Given the description of an element on the screen output the (x, y) to click on. 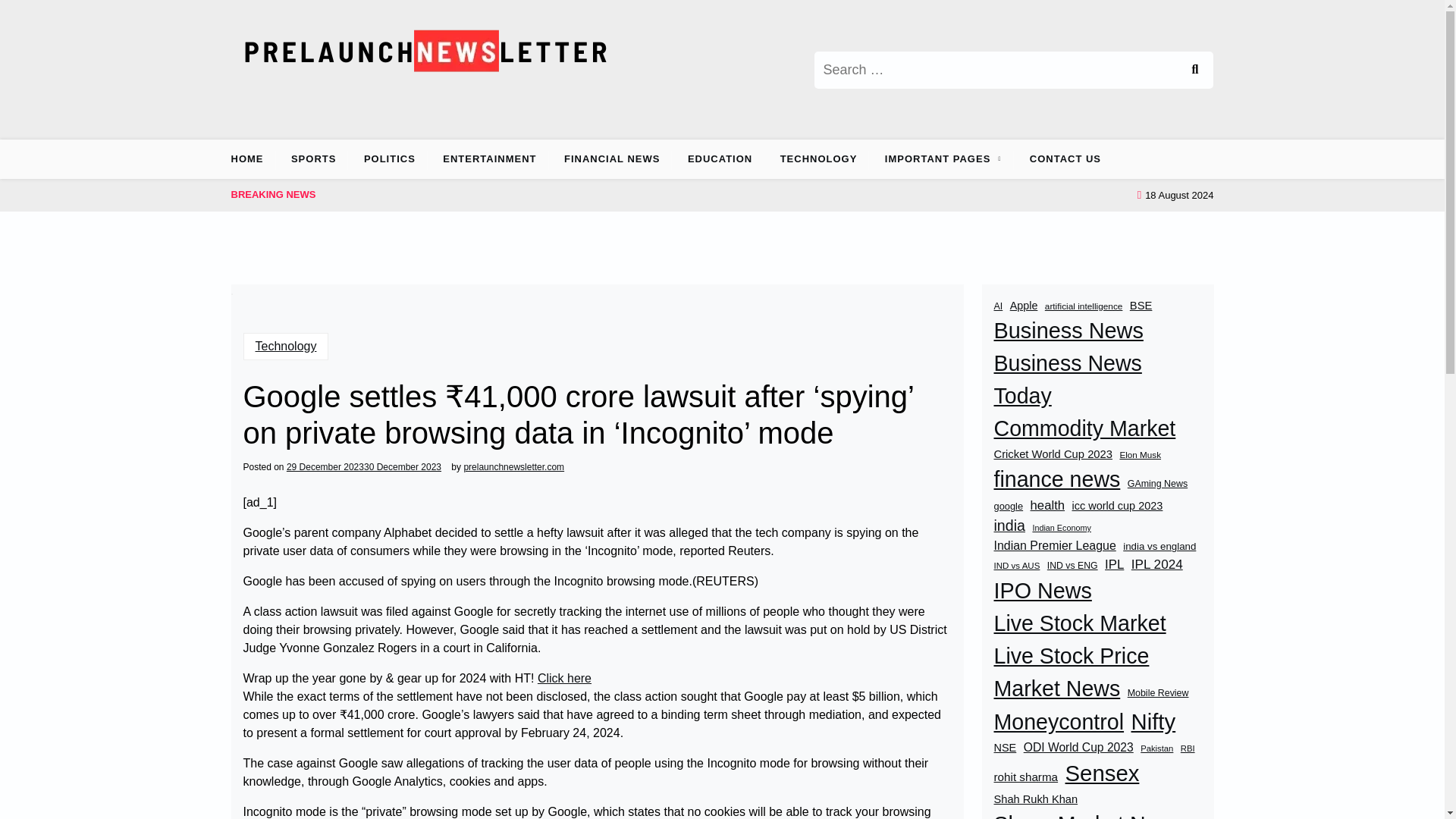
EDUCATION (719, 159)
Technology (286, 346)
HOME (252, 159)
Click here (564, 678)
prelaunchnewsletter.com (513, 466)
Search (1193, 69)
IMPORTANT PAGES (937, 159)
Search (1193, 69)
CONTACT US (1065, 159)
29 December 202330 December 2023 (363, 466)
